Given the description of an element on the screen output the (x, y) to click on. 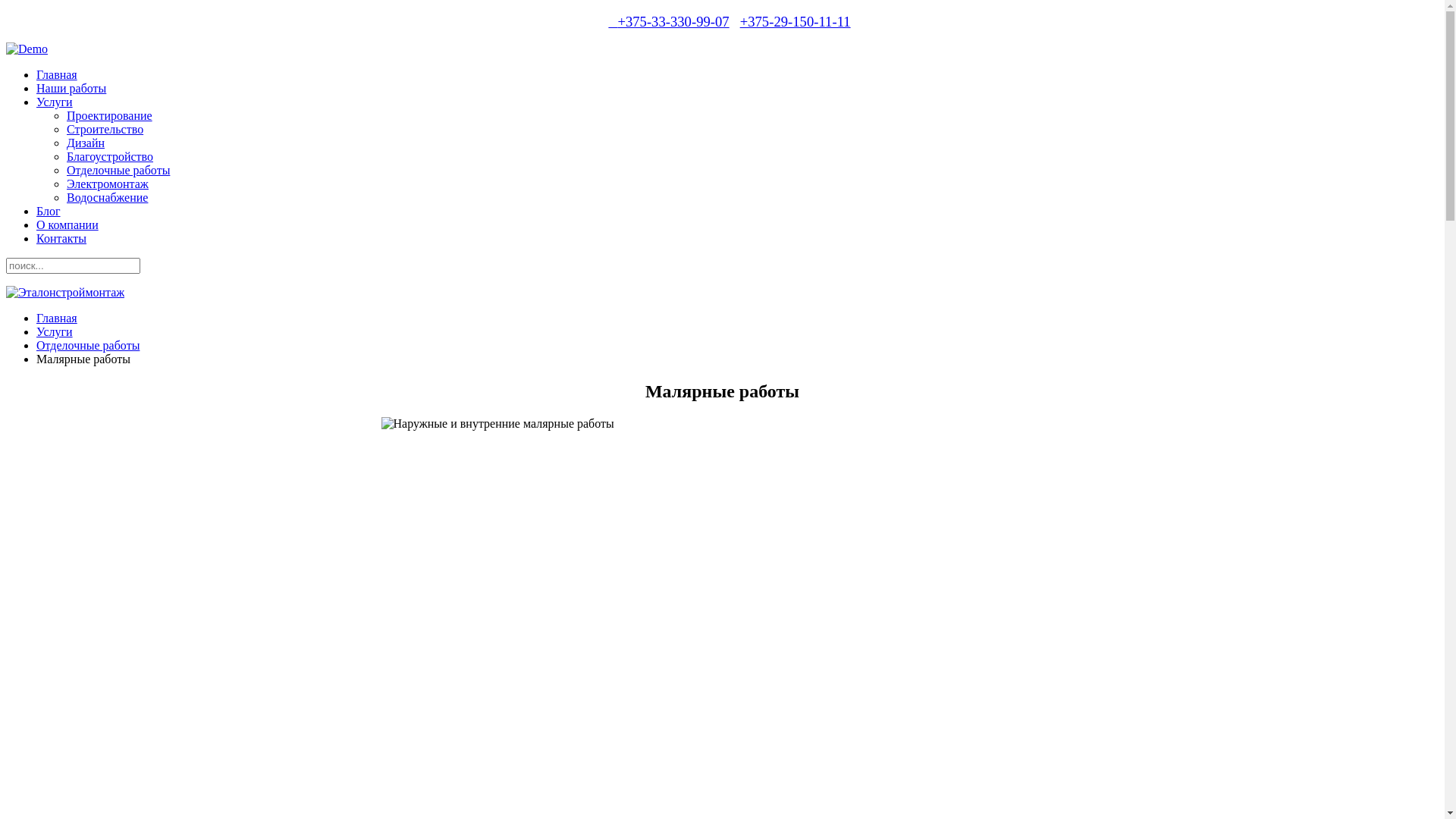
   +375-33-330-99-07 Element type: text (660, 21)
+375-29-150-11-11 Element type: text (795, 21)
